Given the description of an element on the screen output the (x, y) to click on. 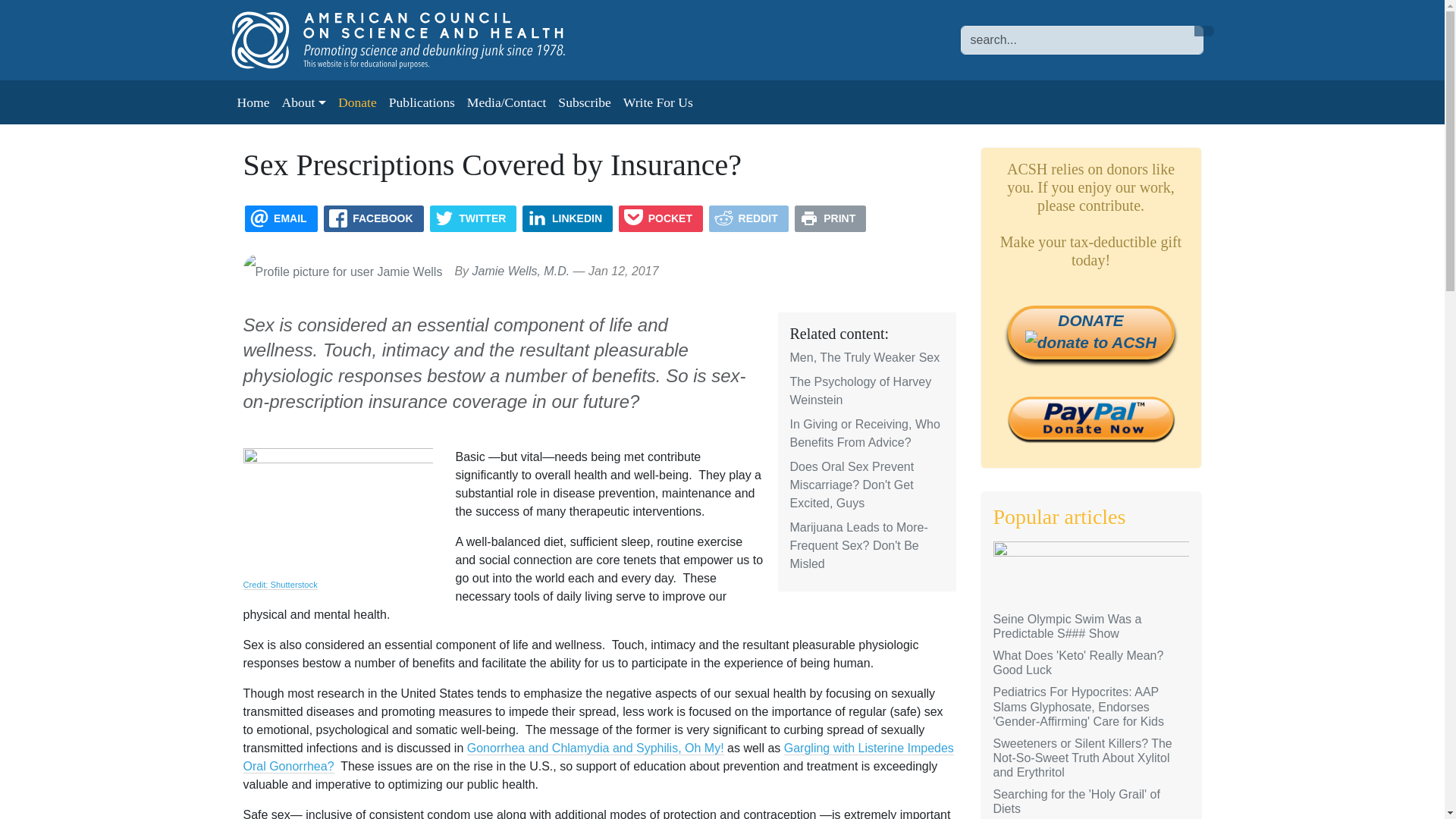
Home (413, 39)
FACEBOOK (373, 218)
TWITTER (472, 218)
Publications (421, 101)
Does Oral Sex Prevent Miscarriage? Don't Get Excited, Guys (852, 484)
Marijuana Leads to More-Frequent Sex? Don't Be Misled (859, 545)
Home (252, 101)
Jamie Wells, M.D. (520, 270)
EMAIL (280, 218)
In Giving or Receiving, Who Benefits From Advice? (865, 432)
